Given the description of an element on the screen output the (x, y) to click on. 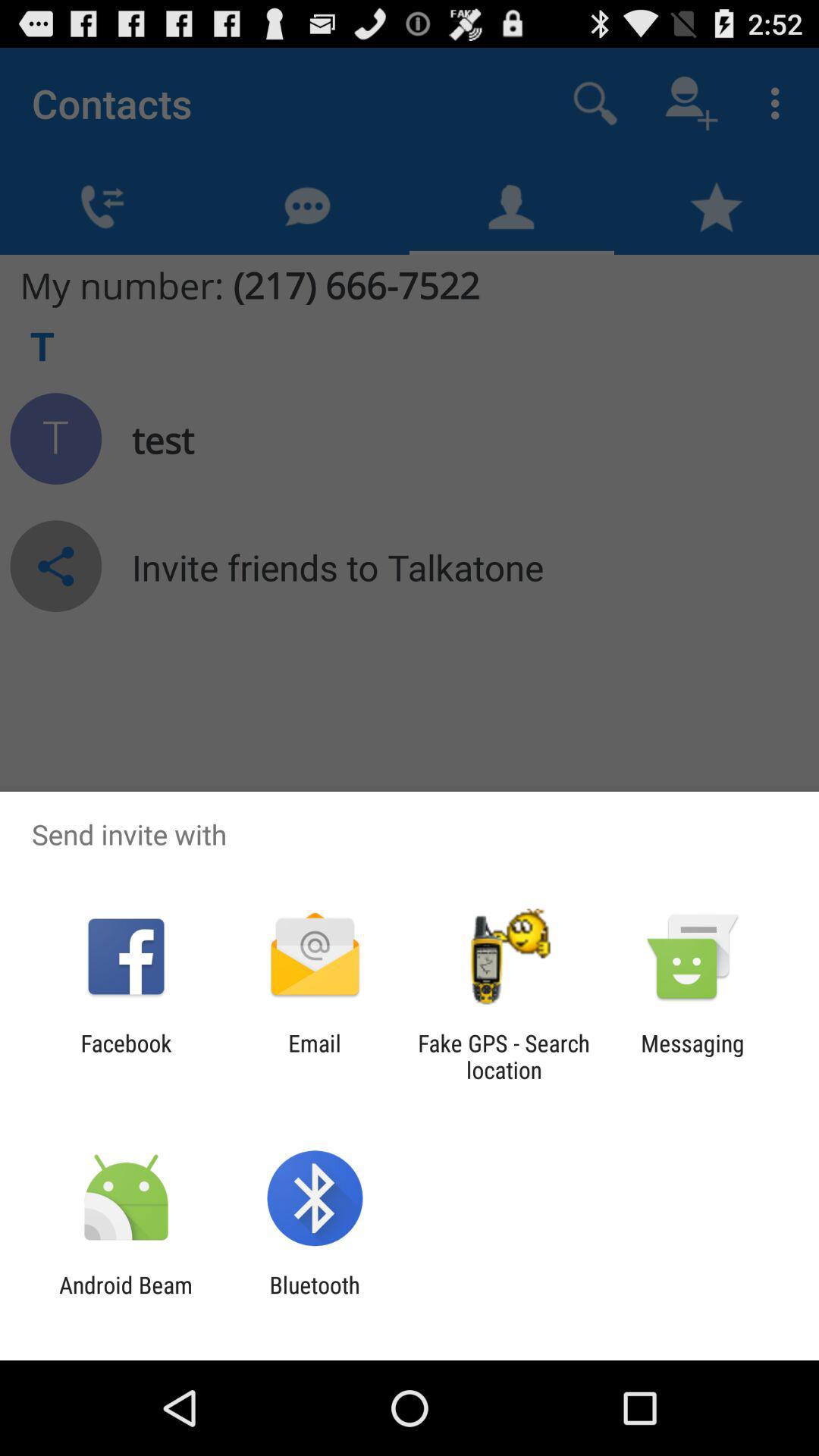
turn off icon to the right of facebook (314, 1056)
